Given the description of an element on the screen output the (x, y) to click on. 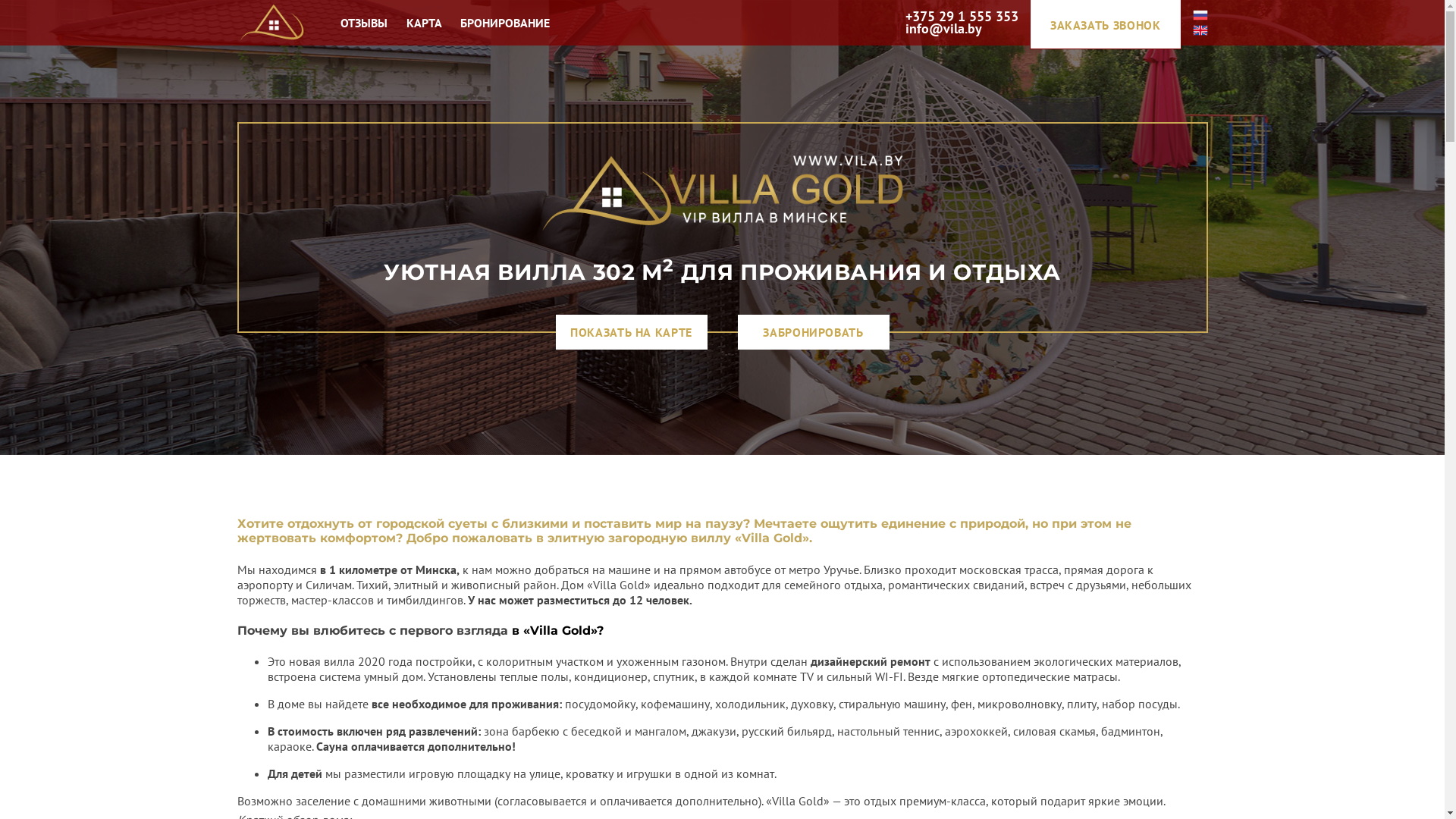
info@vila.by Element type: text (943, 28)
+375 29 1 555 353 Element type: text (961, 16)
